Given the description of an element on the screen output the (x, y) to click on. 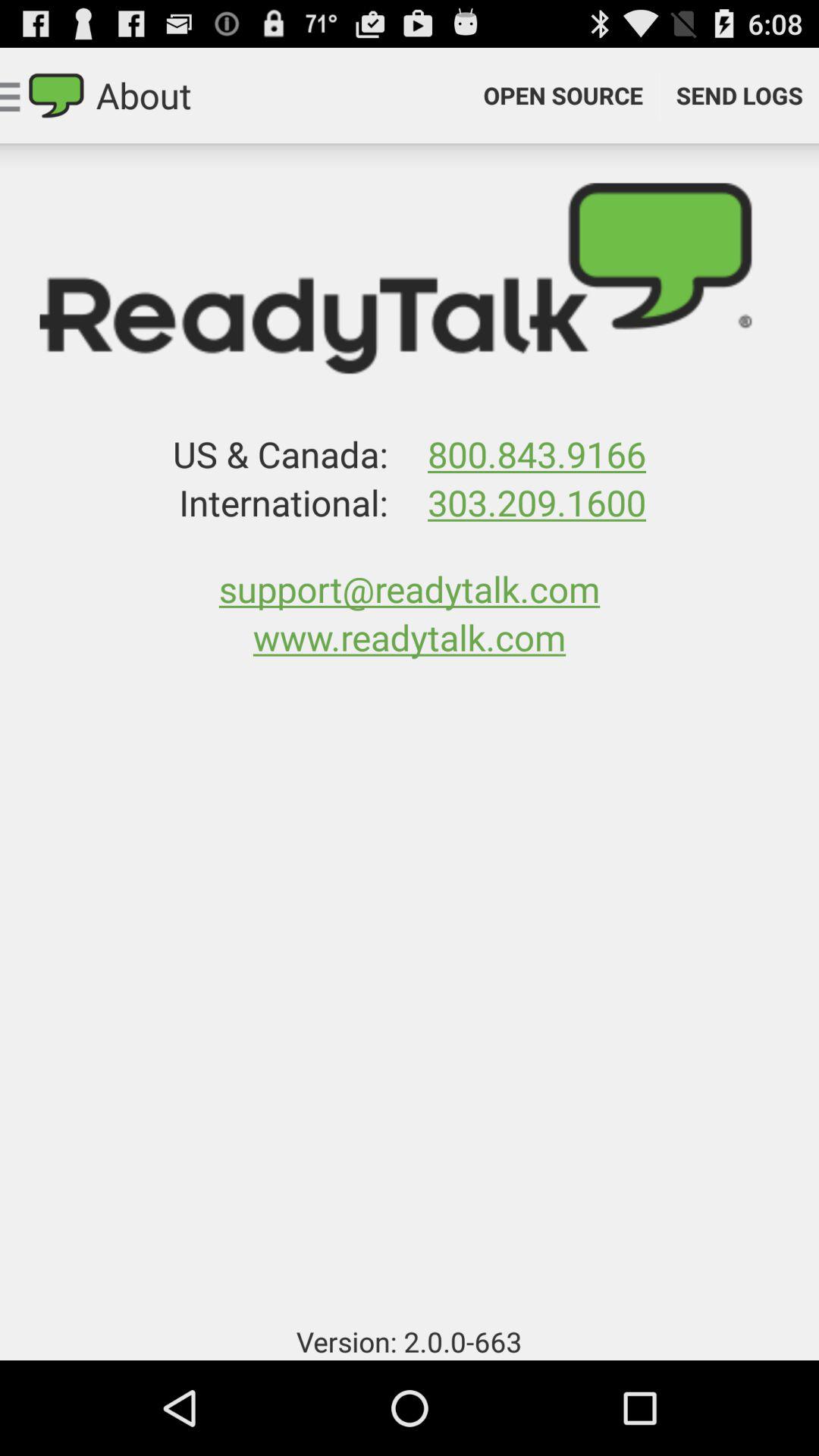
click the icon next to the send logs icon (563, 95)
